Given the description of an element on the screen output the (x, y) to click on. 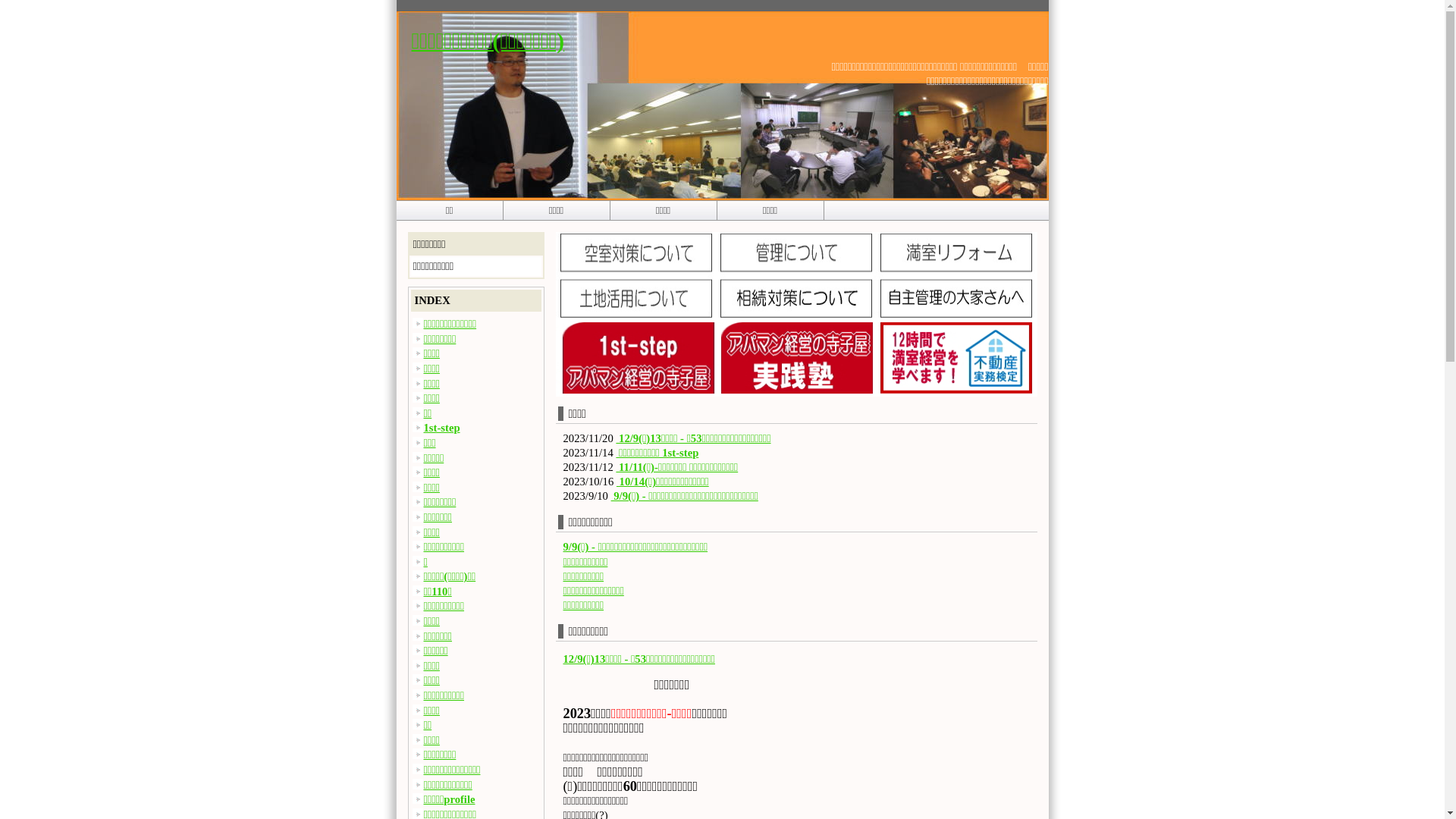
1st-step Element type: text (441, 427)
